Given the description of an element on the screen output the (x, y) to click on. 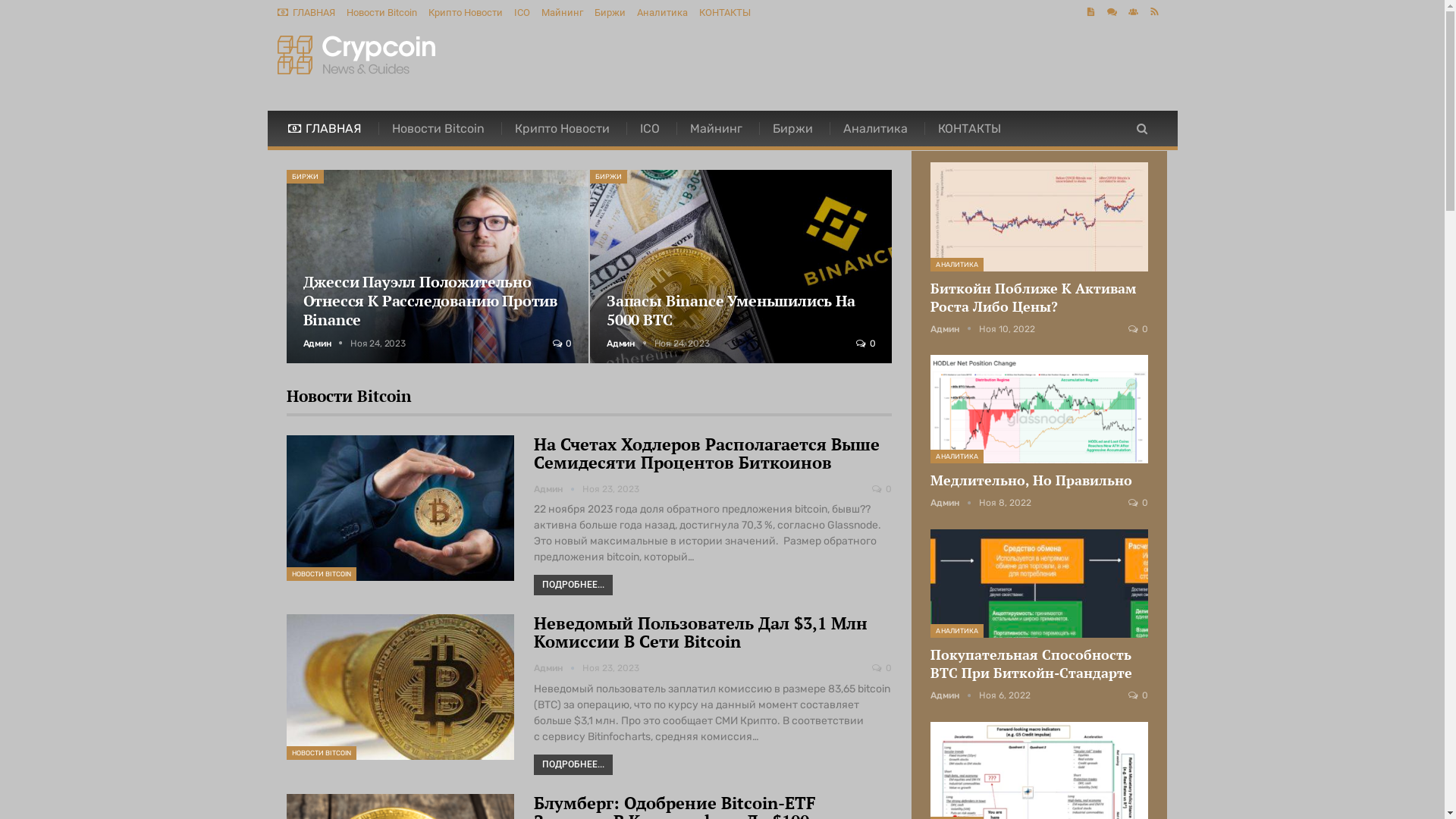
ICO Element type: text (650, 128)
ICO Element type: text (522, 12)
0 Element type: text (881, 667)
0 Element type: text (1138, 502)
0 Element type: text (881, 488)
0 Element type: text (561, 343)
0 Element type: text (865, 343)
0 Element type: text (1138, 328)
0 Element type: text (1138, 694)
